Given the description of an element on the screen output the (x, y) to click on. 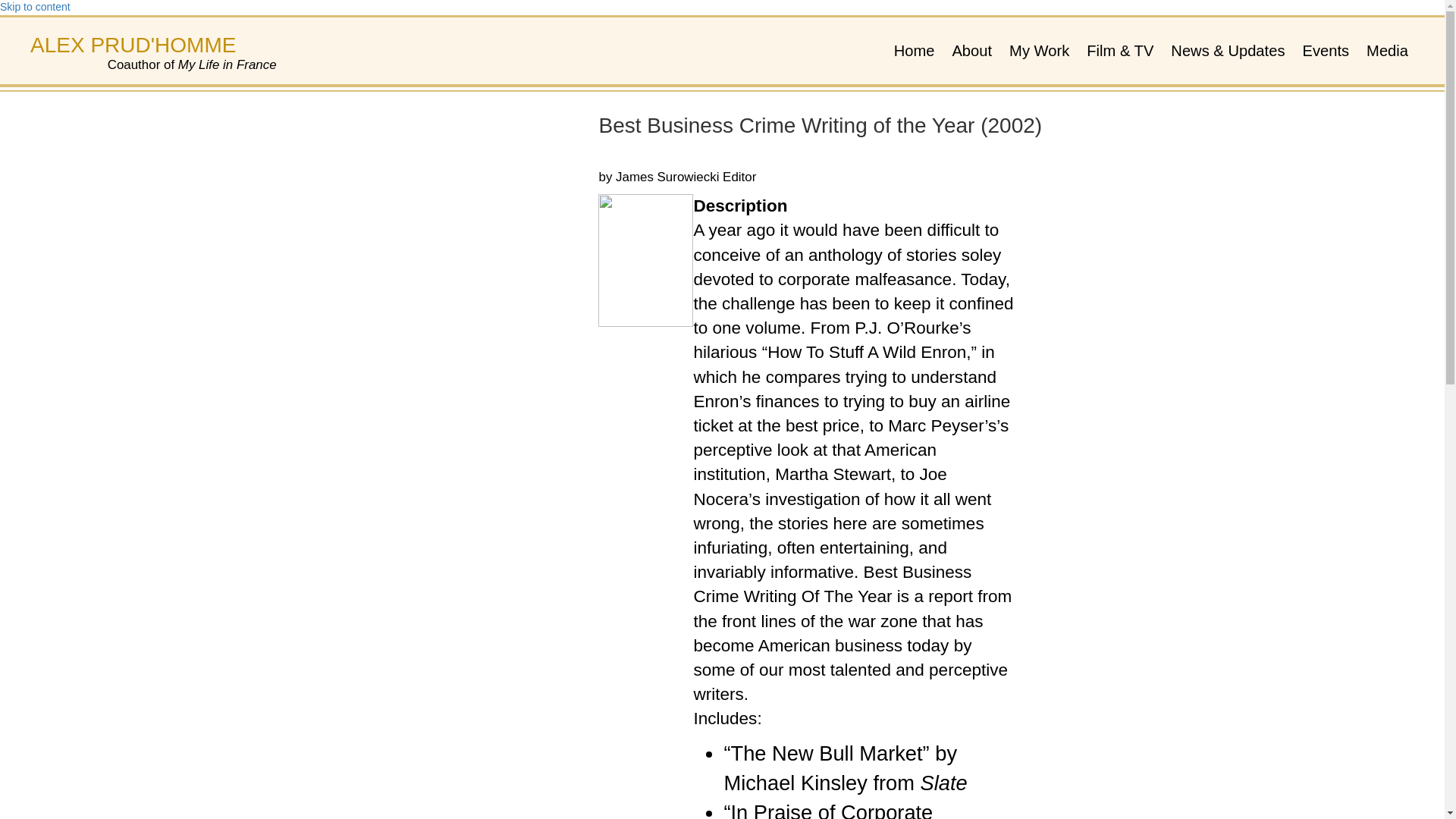
ALEX PRUD'HOMME (132, 44)
Home (911, 50)
About (968, 50)
Events (1323, 50)
My Work (1036, 50)
Alex Prud'homme (132, 44)
Skip to content (34, 6)
Media (1384, 50)
